Given the description of an element on the screen output the (x, y) to click on. 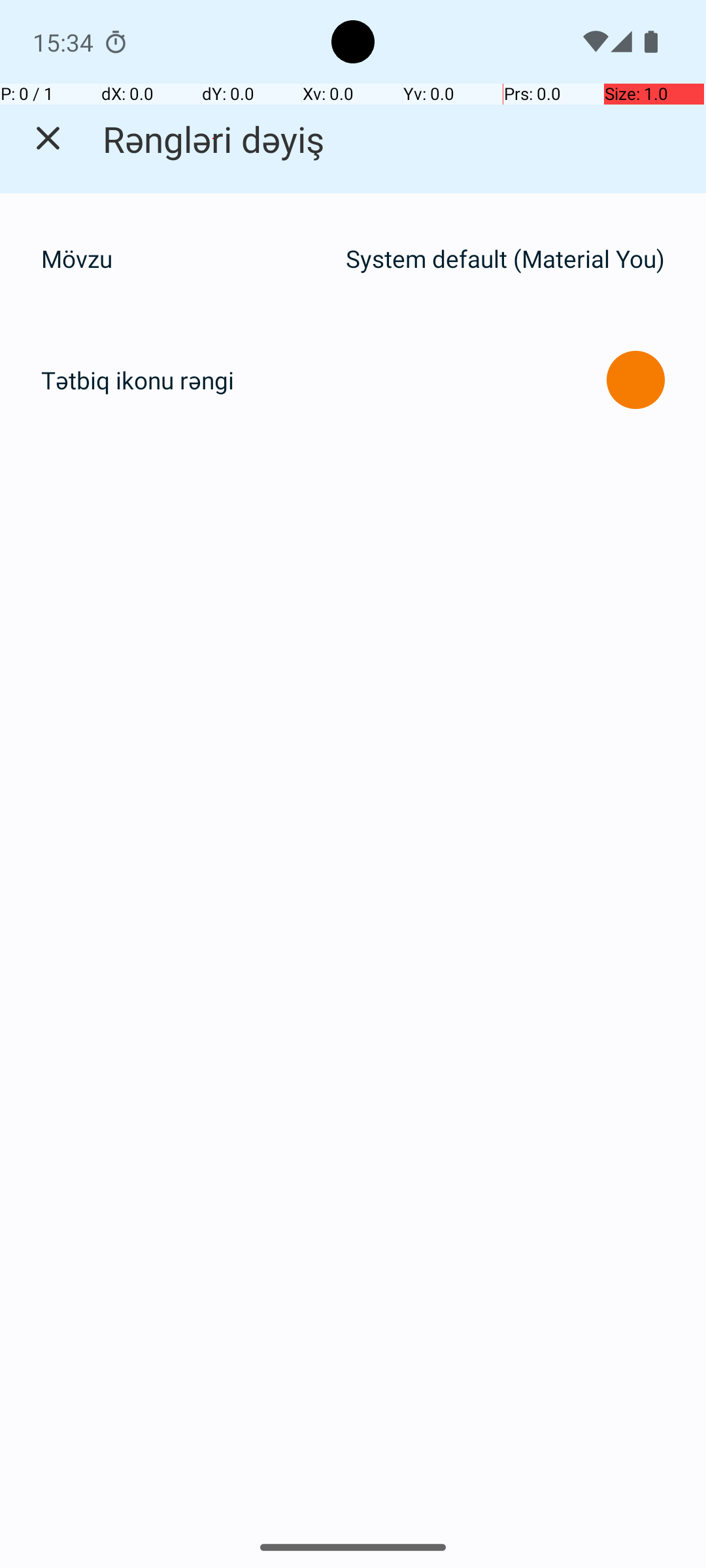
Rəngləri dəyiş Element type: android.widget.TextView (213, 138)
Mövzu Element type: android.widget.TextView (186, 258)
System default (Material You) Element type: android.widget.TextView (504, 258)
Tətbiq ikonu rəngi Element type: android.widget.TextView (137, 379)
